Given the description of an element on the screen output the (x, y) to click on. 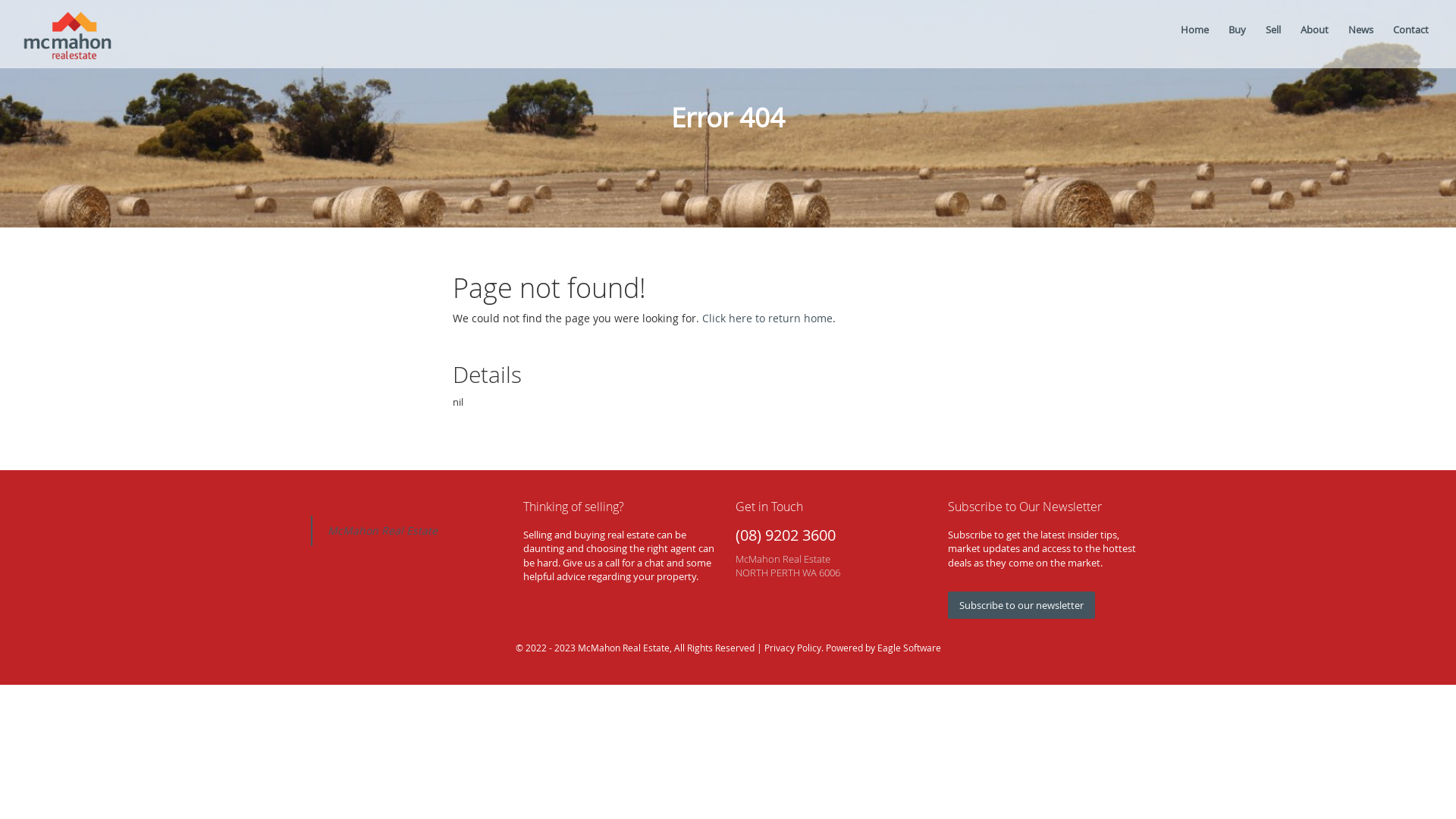
Click here to return home Element type: text (767, 317)
About   Element type: text (1316, 33)
Sell   Element type: text (1275, 33)
(08) 9202 3600 Element type: text (785, 534)
Privacy Policy Element type: text (792, 647)
Contact   Element type: text (1413, 33)
McMahon Real Estate Element type: text (382, 530)
Subscribe to our newsletter Element type: text (1021, 604)
Eagle Software Element type: text (908, 647)
Home   Element type: text (1196, 33)
Buy   Element type: text (1239, 33)
News   Element type: text (1362, 33)
